Given the description of an element on the screen output the (x, y) to click on. 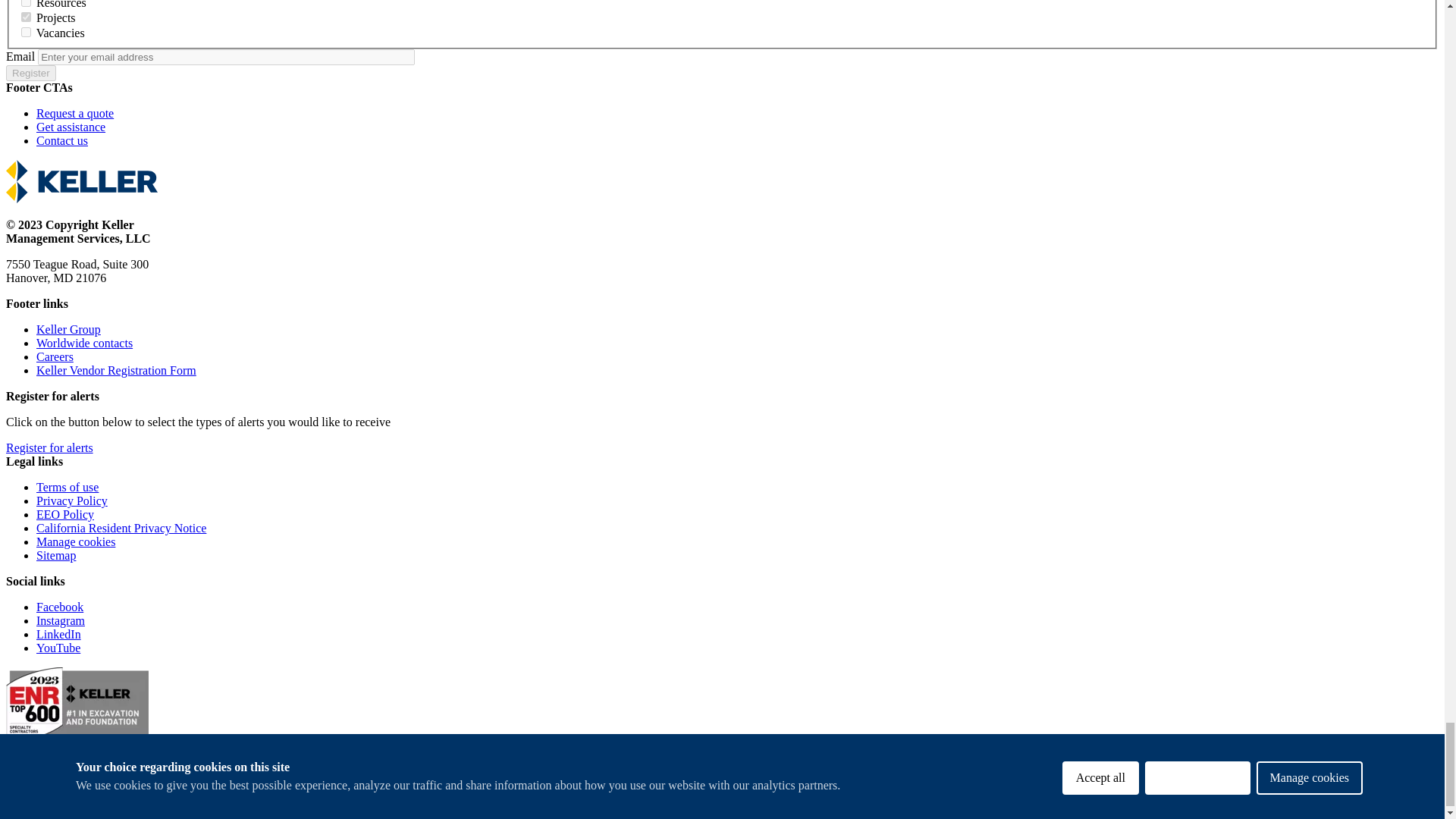
projects (25, 17)
Register (30, 73)
resources (25, 3)
vacancies (25, 31)
